Given the description of an element on the screen output the (x, y) to click on. 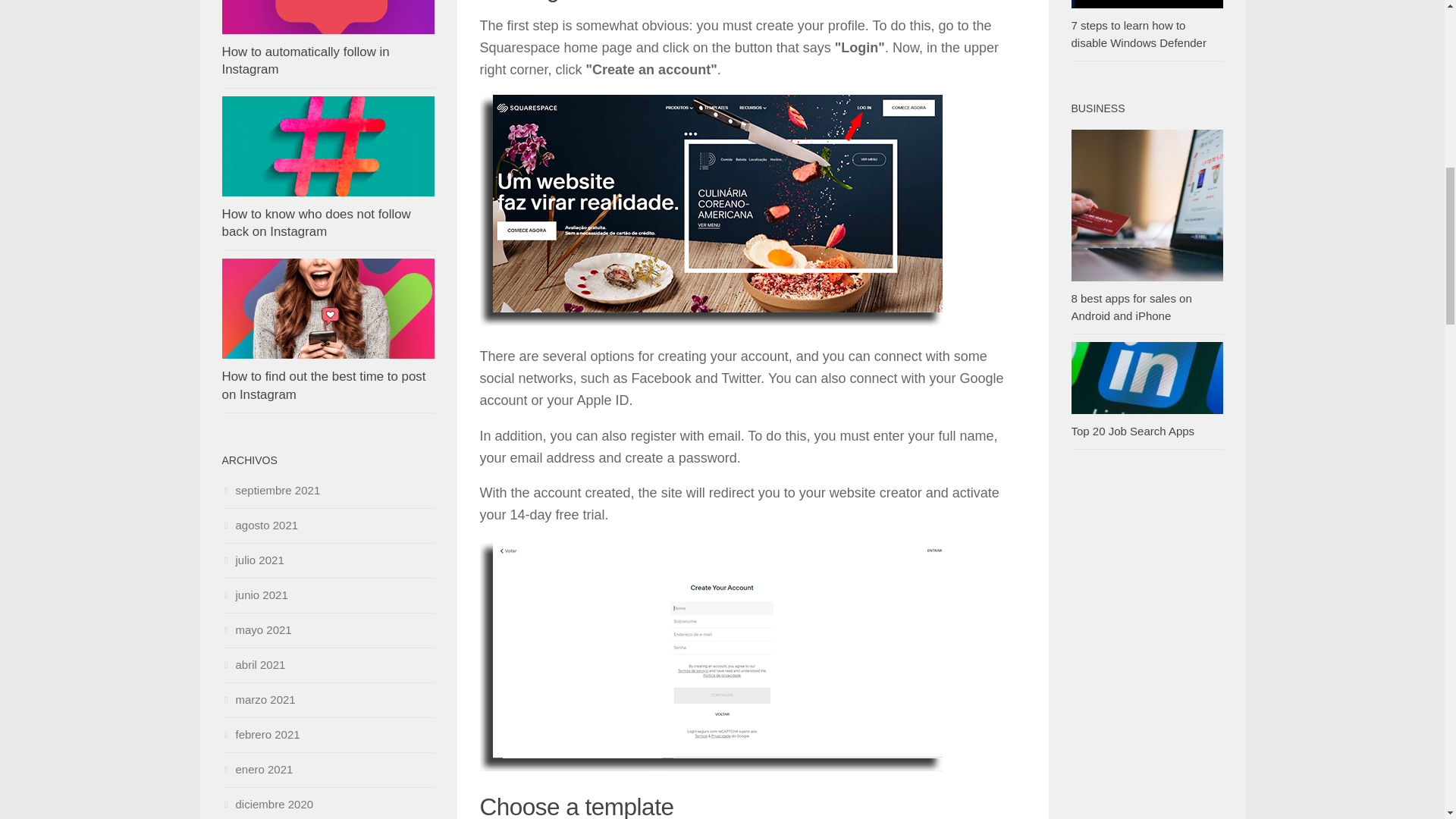
septiembre 2021 (270, 490)
abril 2021 (253, 664)
junio 2021 (253, 594)
agosto 2021 (259, 524)
julio 2021 (252, 559)
Registering create websites without the help of an expert (710, 210)
How to automatically follow in Instagram (304, 60)
How to know who does not follow back on Instagram (315, 223)
marzo 2021 (258, 698)
Register 2 create websites without the help of an expert (710, 655)
How to find out the best time to post on Instagram (323, 385)
mayo 2021 (256, 629)
